Given the description of an element on the screen output the (x, y) to click on. 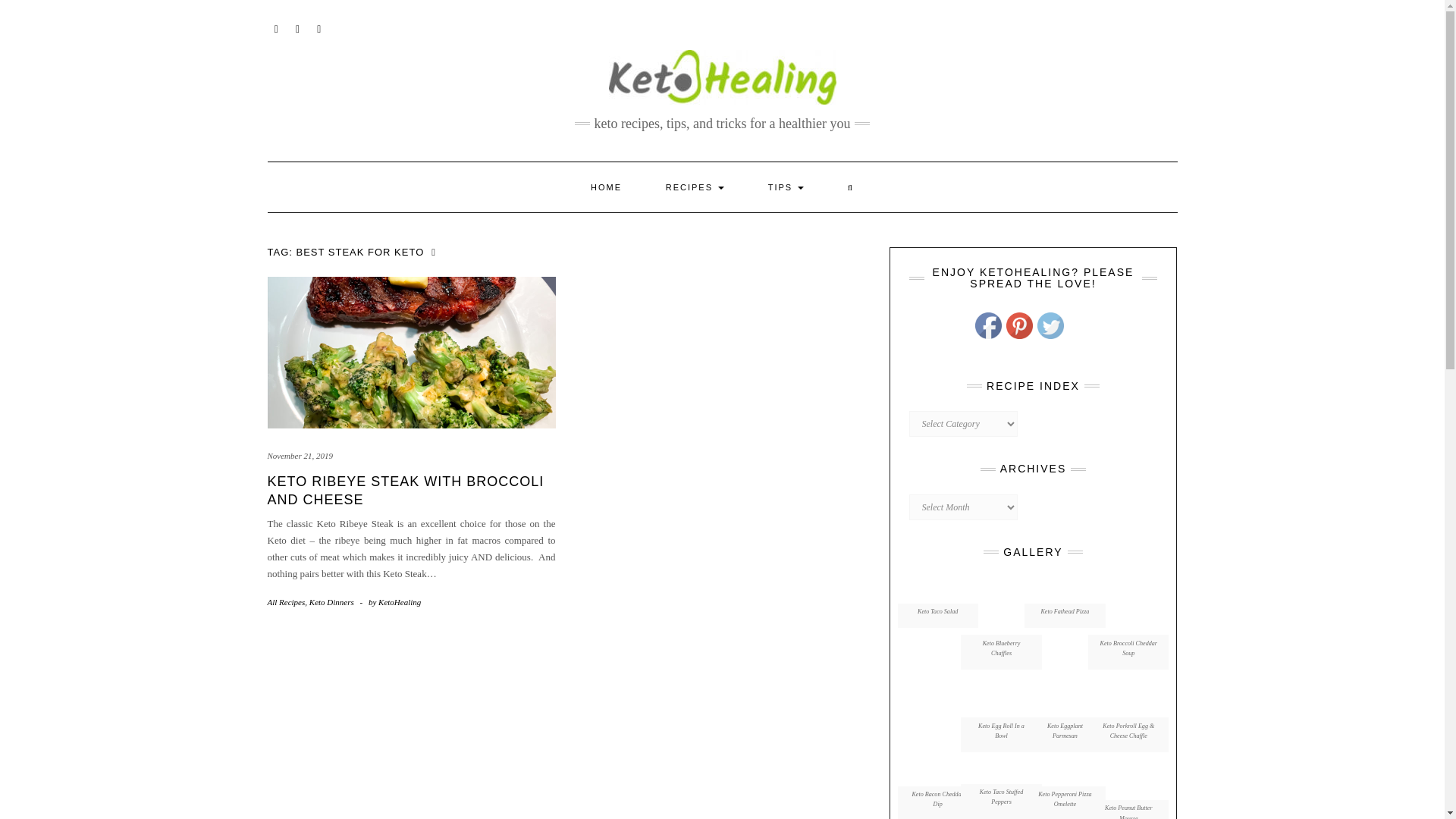
November 21, 2019 (298, 455)
FACEBOOK (297, 27)
All Recipes (285, 601)
PINTEREST (275, 27)
TIPS (786, 187)
Keto Dinners (330, 601)
INSTAGRAM (319, 27)
RECIPES (694, 187)
HOME (606, 187)
KETO RIBEYE STEAK WITH BROCCOLI AND CHEESE (404, 490)
Facebook (988, 325)
Twitter (1050, 325)
Keto Ribeye Steak with Broccoli and Cheese (404, 490)
